Given the description of an element on the screen output the (x, y) to click on. 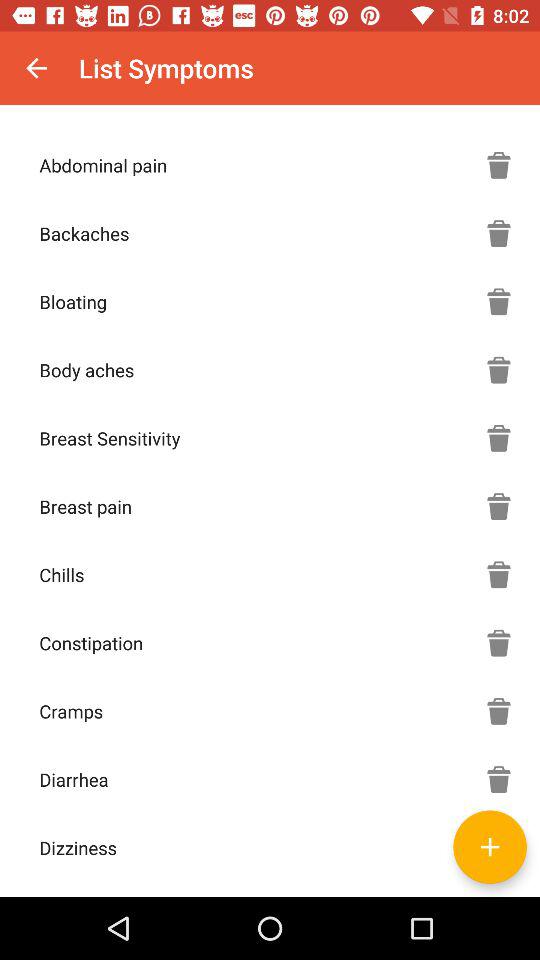
turn off item to the left of the list symptoms (36, 68)
